Given the description of an element on the screen output the (x, y) to click on. 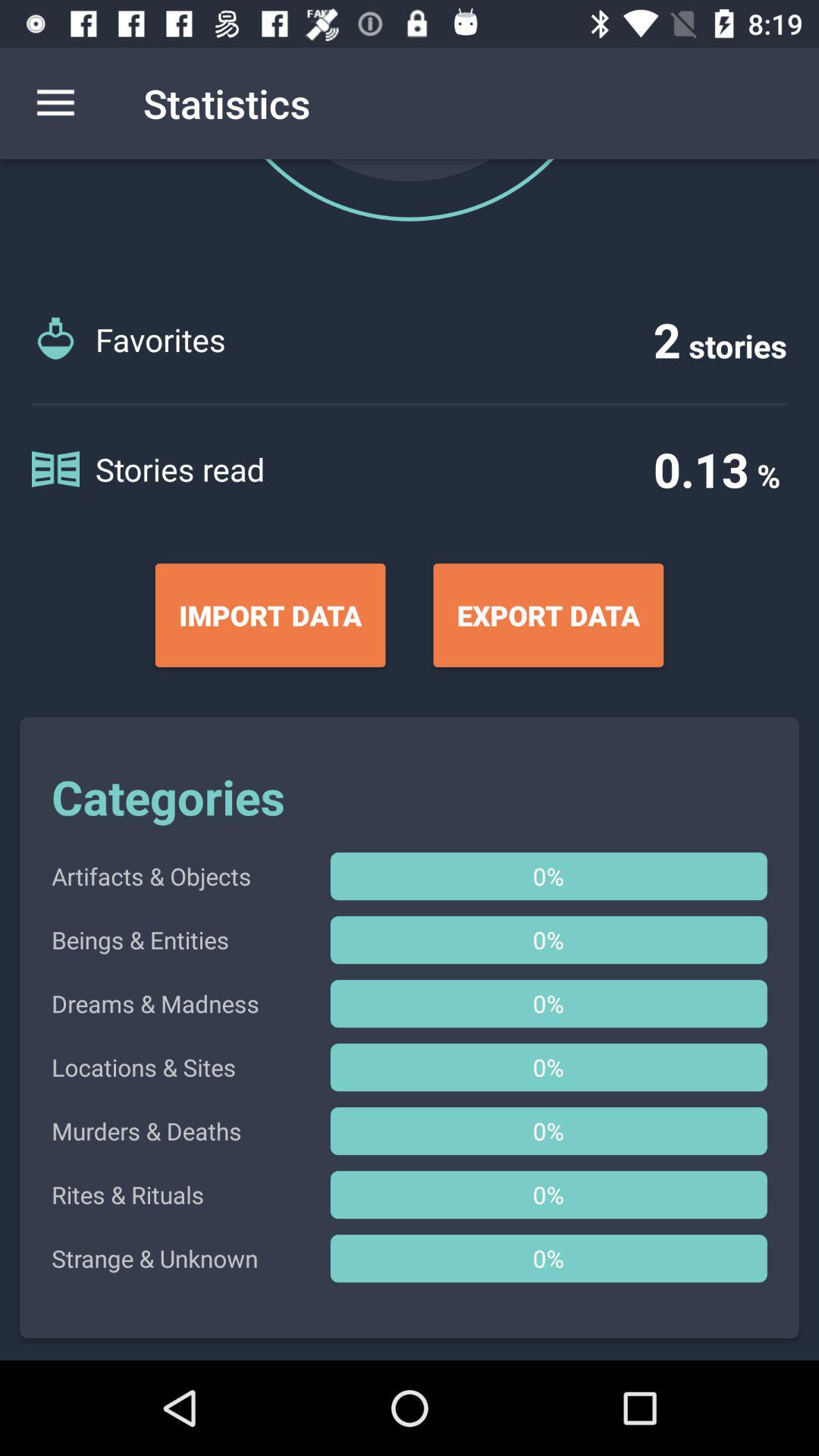
launch item next to the statistics (55, 103)
